Given the description of an element on the screen output the (x, y) to click on. 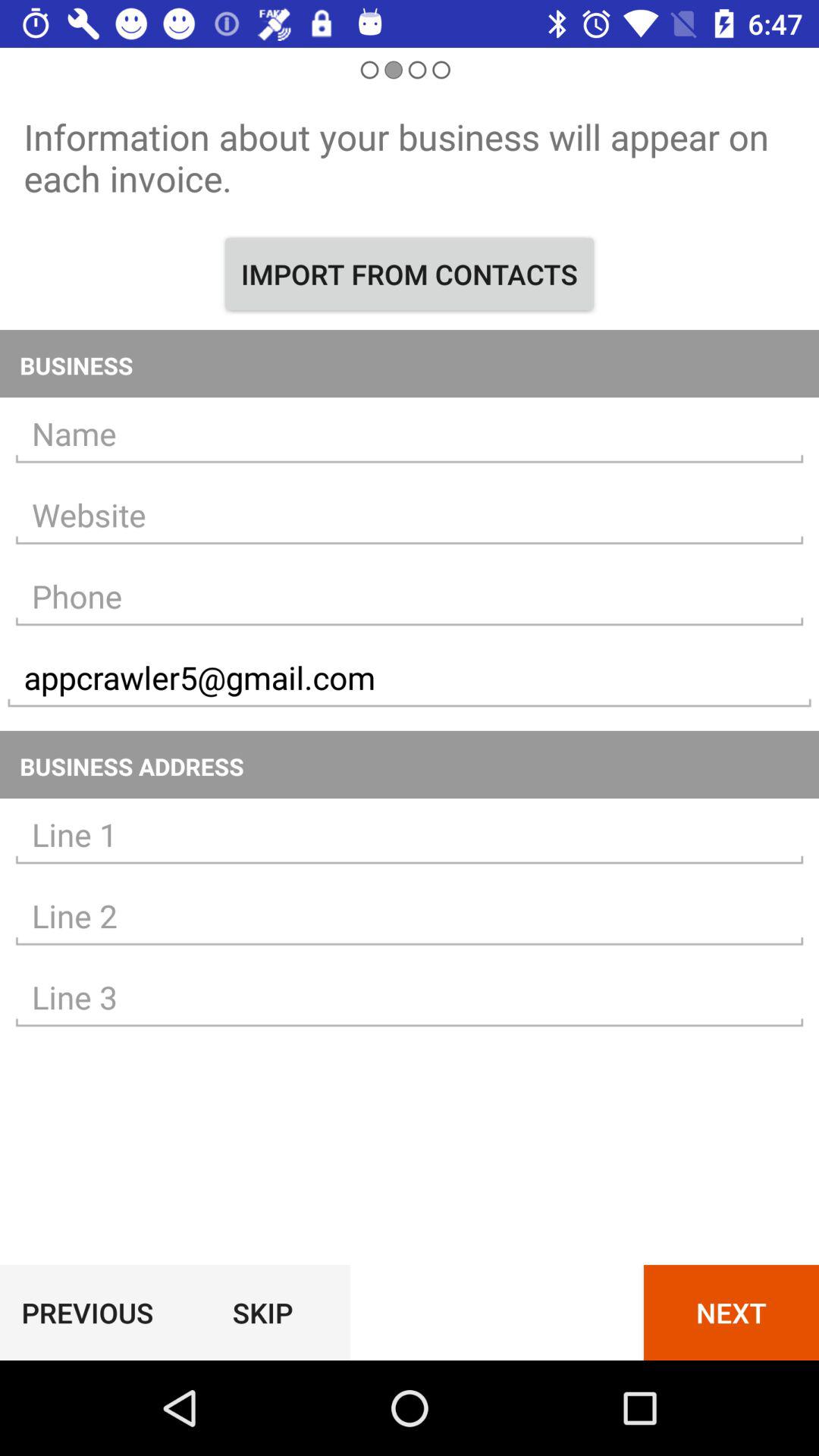
website type box (409, 515)
